Given the description of an element on the screen output the (x, y) to click on. 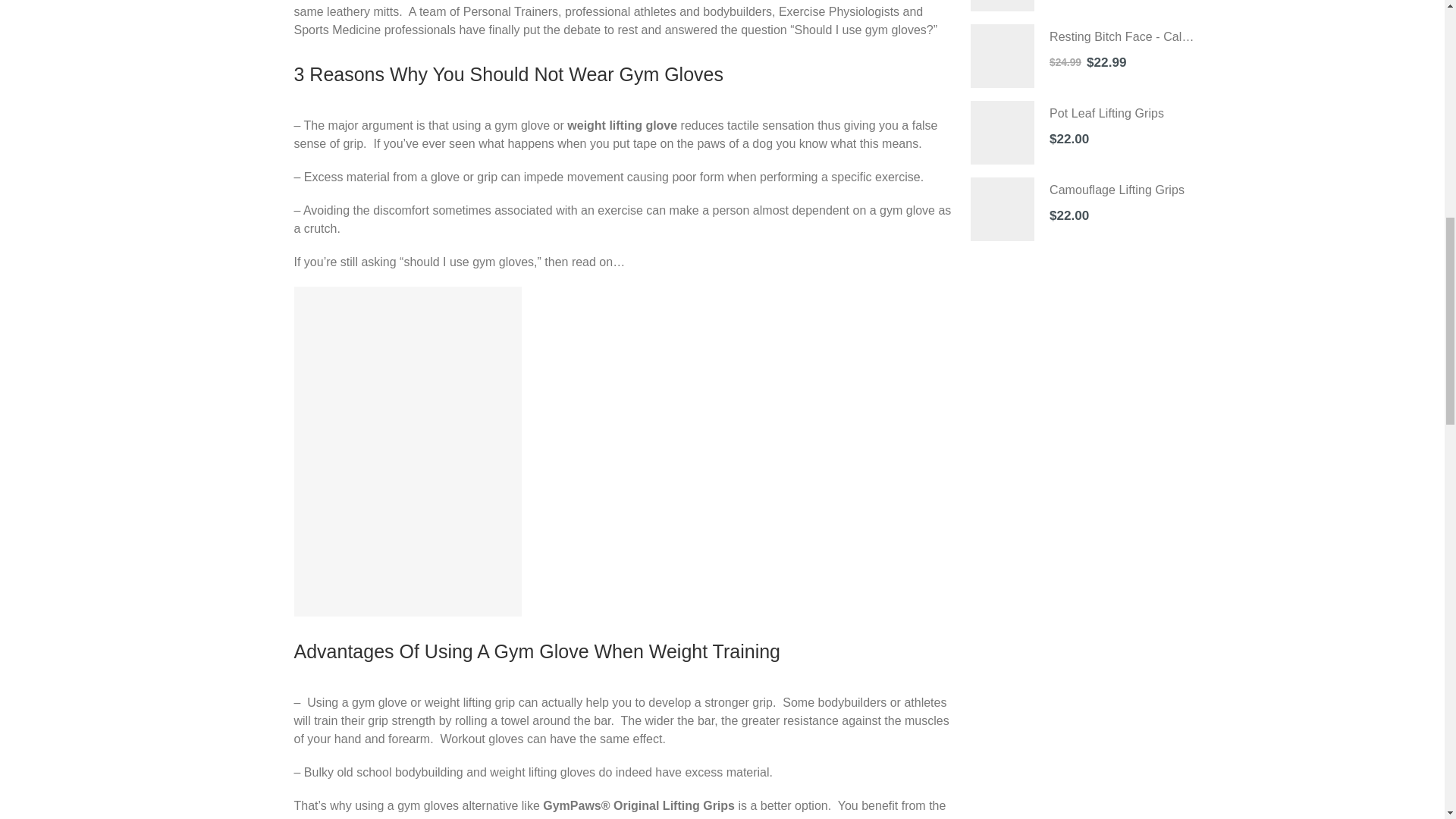
Pot Leaf Lifting Grips (1122, 114)
Resting Bitch Face - Calendula Butter Cream Mask 2 OZ (1002, 55)
Resting Bitch Face - Calendula Butter Cream Mask 2 OZ (1122, 37)
Pot Leaf Lifting Grips (1002, 132)
The Super Serum with Vitamin C (1002, 5)
